Given the description of an element on the screen output the (x, y) to click on. 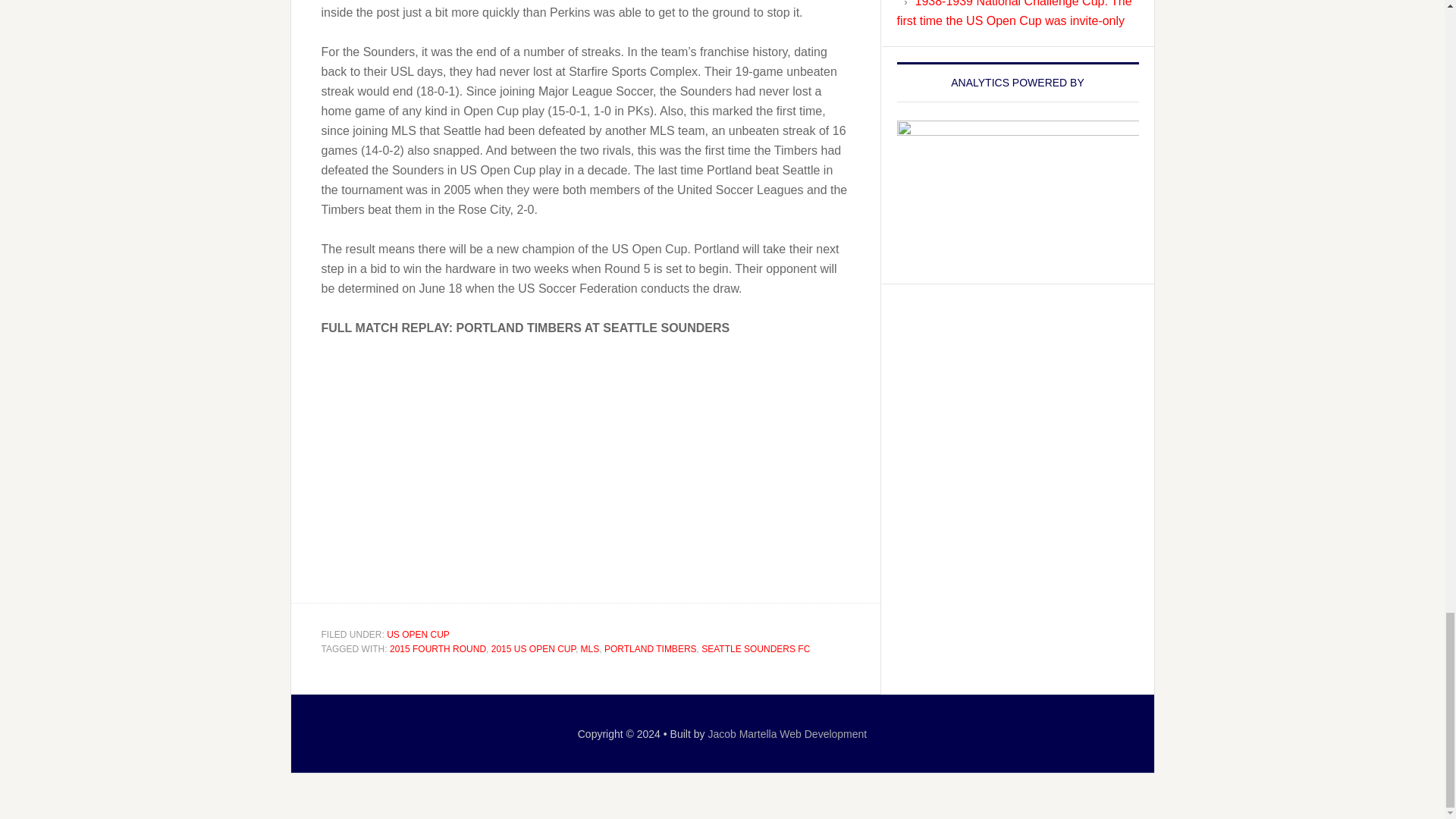
2015 FOURTH ROUND (438, 648)
MLS (589, 648)
2015 US OPEN CUP (533, 648)
US OPEN CUP (418, 633)
PORTLAND TIMBERS (650, 648)
SEATTLE SOUNDERS FC (755, 648)
Jacob Martella Web Development (786, 733)
